Given the description of an element on the screen output the (x, y) to click on. 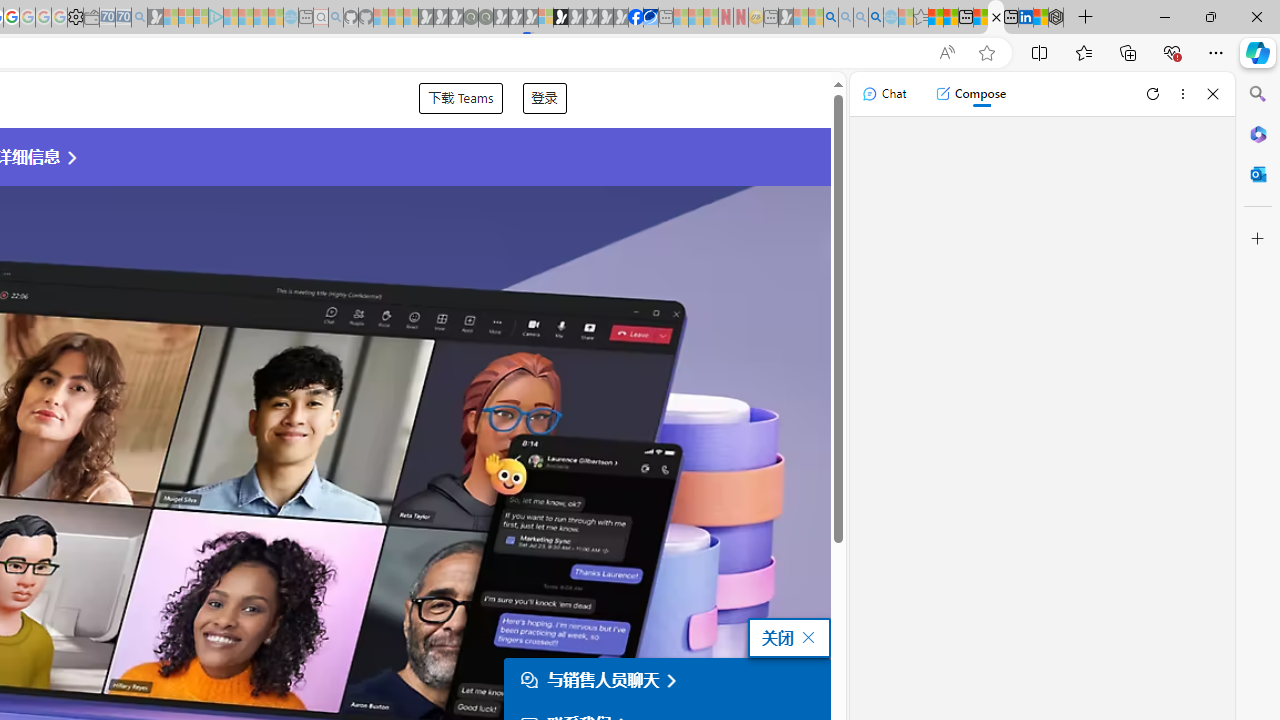
AQI & Health | AirNow.gov (650, 17)
